Given the description of an element on the screen output the (x, y) to click on. 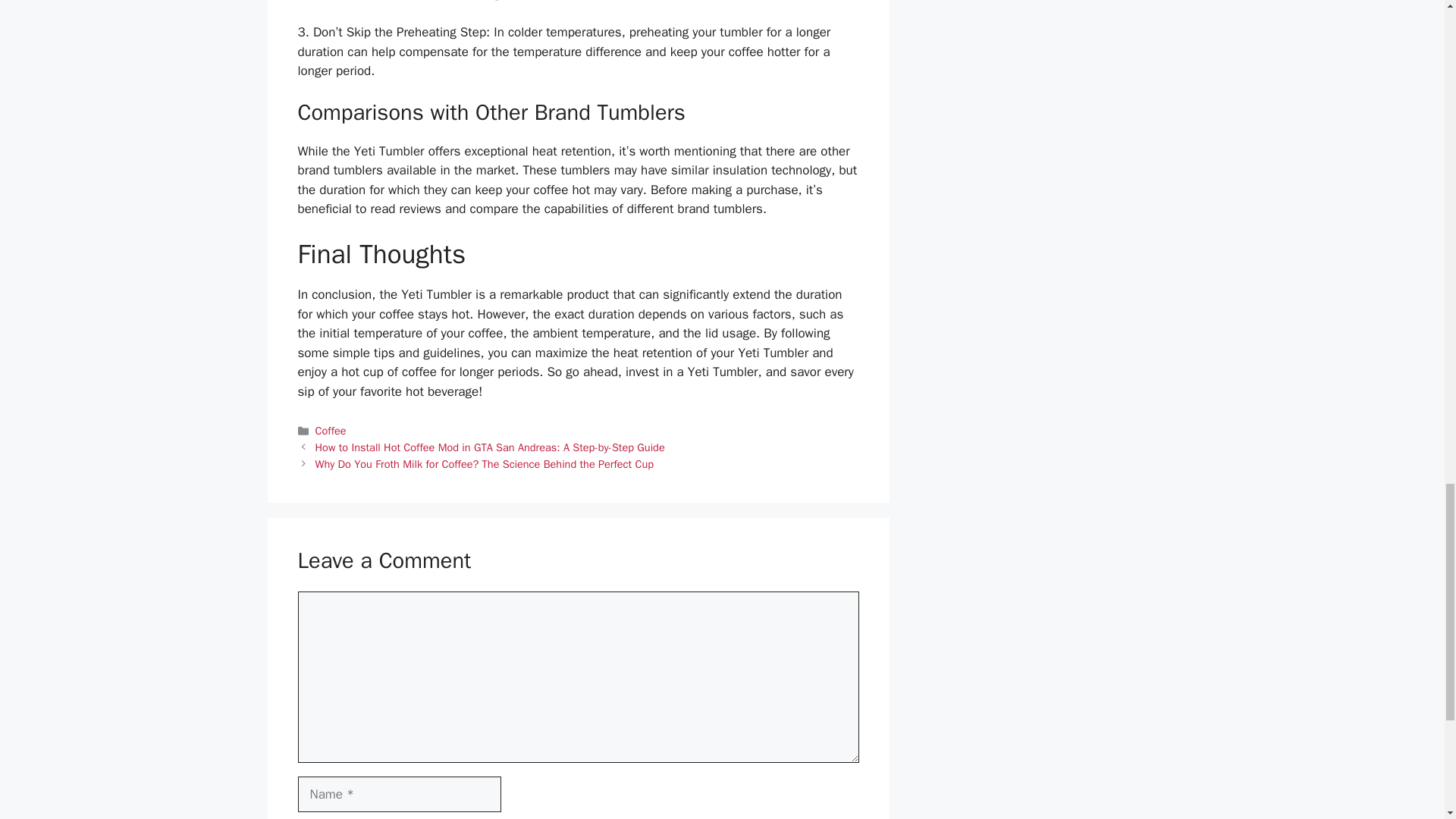
Coffee (330, 430)
